Given the description of an element on the screen output the (x, y) to click on. 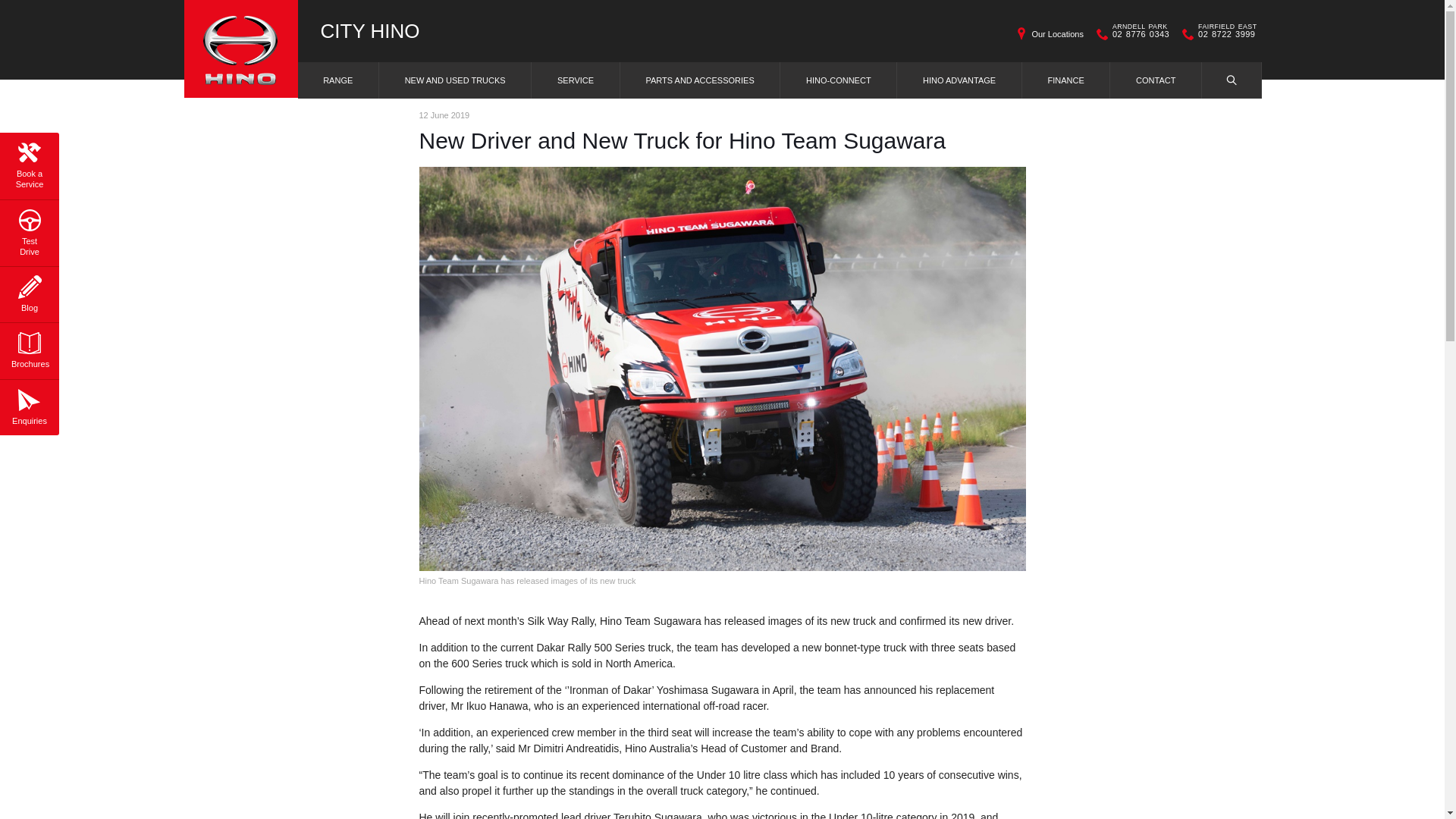
NEW AND USED TRUCKS (454, 80)
CITY HINO (369, 31)
RANGE (337, 80)
Brochures (28, 347)
SERVICE (575, 80)
City Hino (369, 31)
Blog (28, 291)
City Hino (240, 48)
Enquiries (28, 404)
